Given the description of an element on the screen output the (x, y) to click on. 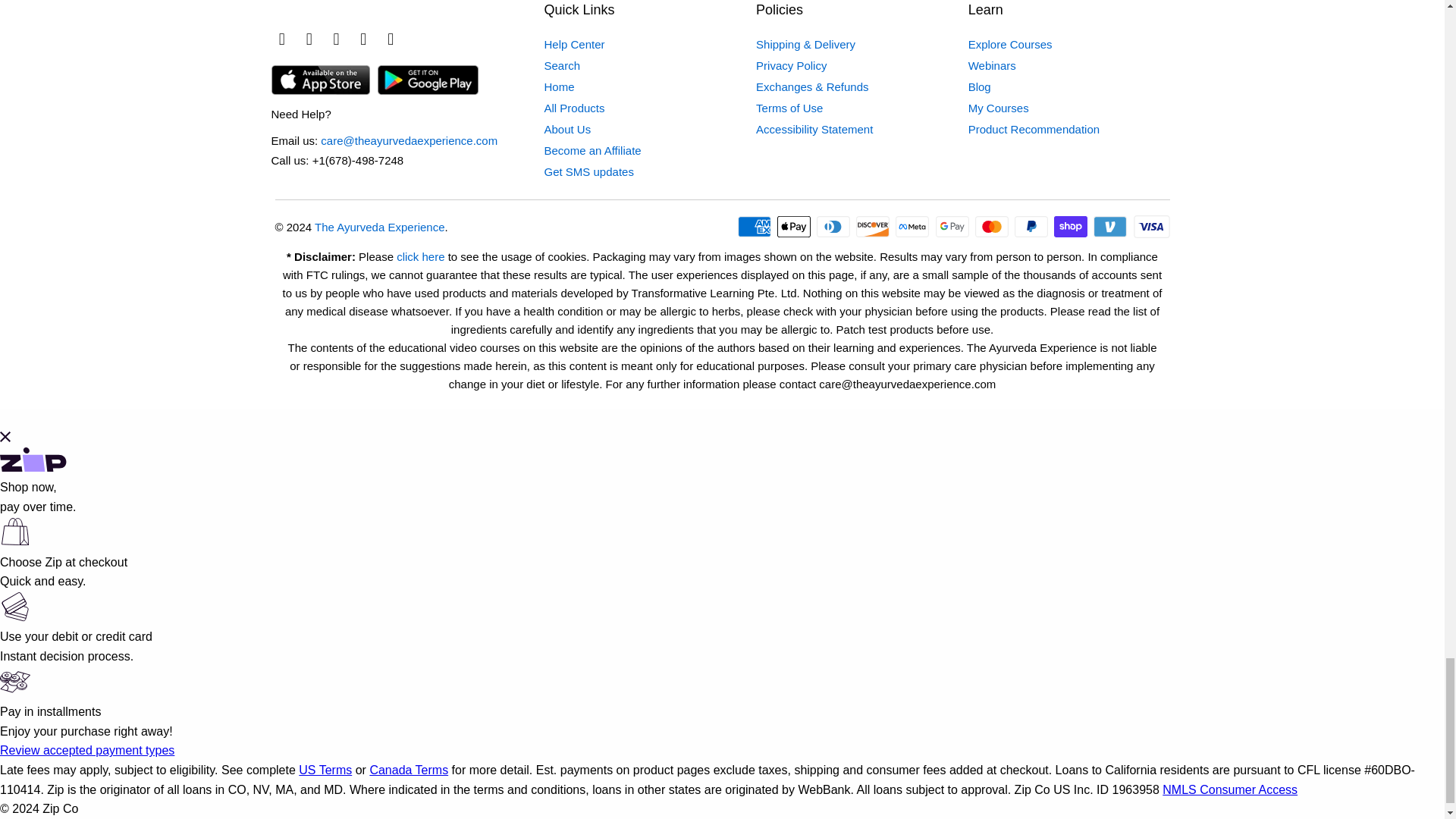
Mastercard (993, 226)
Venmo (1111, 226)
Discover (874, 226)
Google Pay (954, 226)
Diners Club (834, 226)
PayPal (1032, 226)
Visa (1150, 226)
Shop Pay (1072, 226)
Apple Pay (795, 226)
American Express (756, 226)
Meta Pay (913, 226)
